Given the description of an element on the screen output the (x, y) to click on. 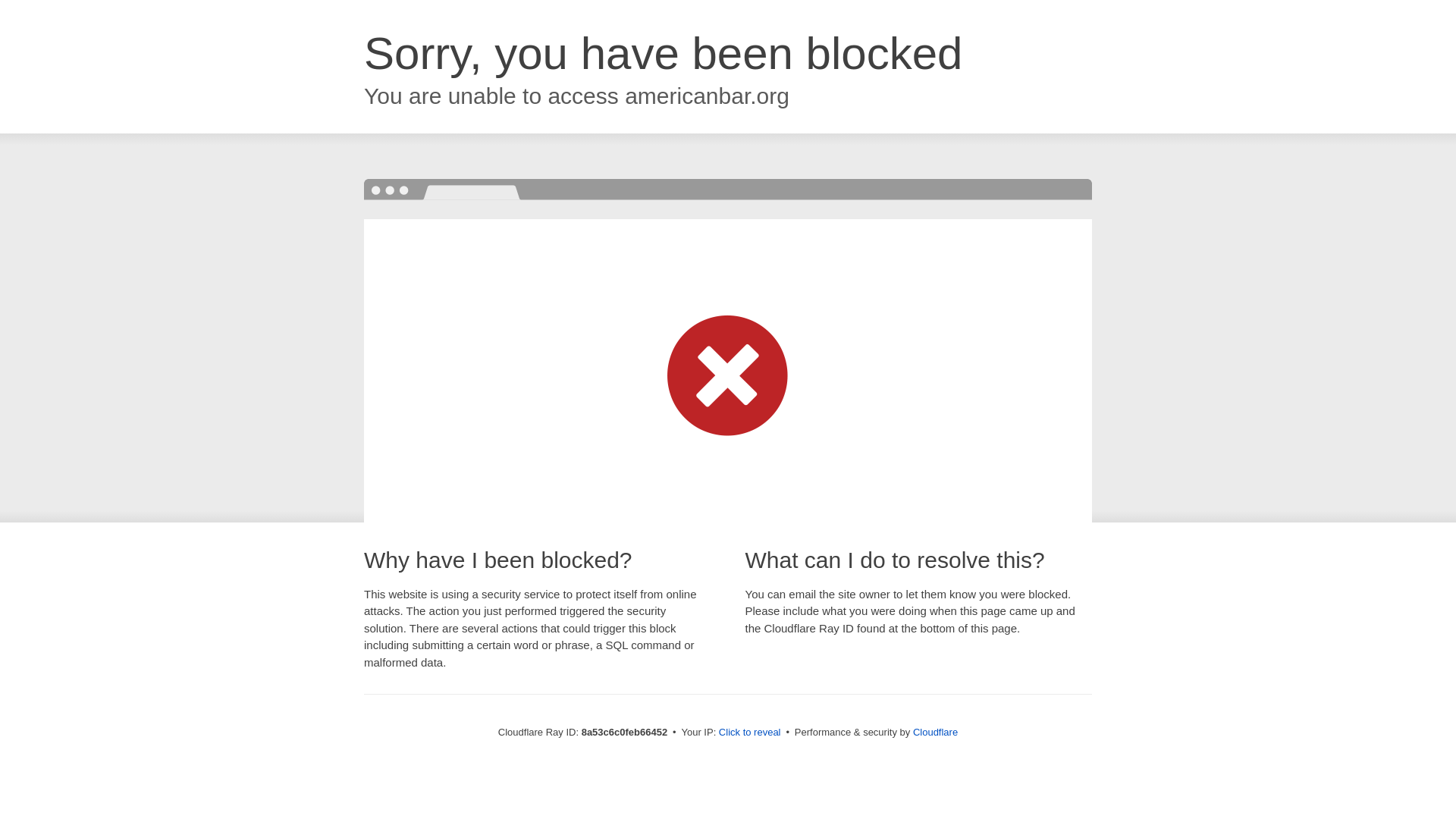
Cloudflare (935, 731)
Click to reveal (749, 732)
